Given the description of an element on the screen output the (x, y) to click on. 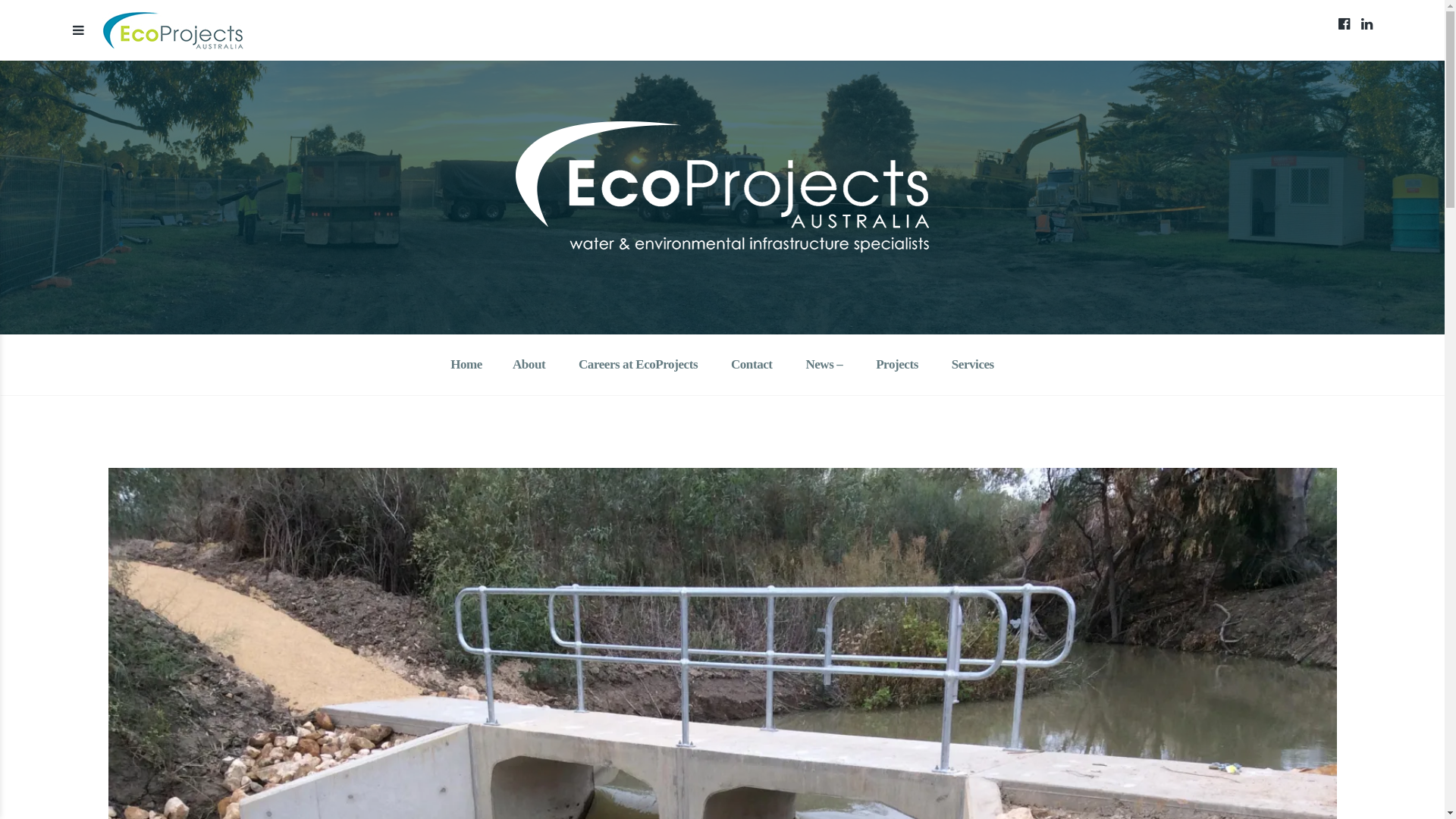
EcoProjects Australia Element type: text (269, 277)
Careers at EcoProjects Element type: text (637, 364)
Home Element type: text (466, 364)
About Element type: text (528, 364)
Services Element type: text (972, 364)
Projects Element type: text (896, 364)
Contact Element type: text (751, 364)
